Given the description of an element on the screen output the (x, y) to click on. 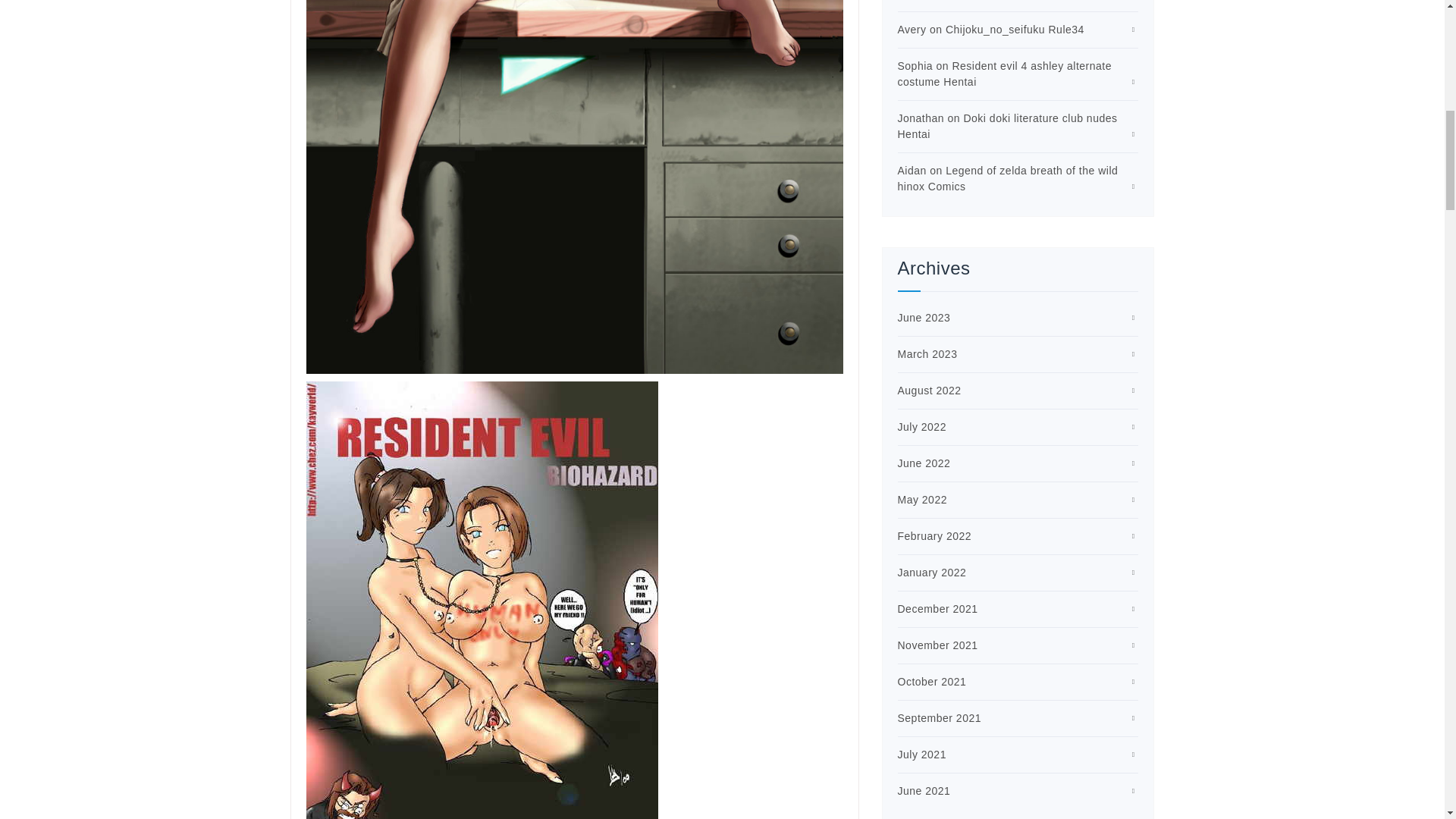
November 2021 (938, 645)
May 2022 (922, 499)
January 2022 (932, 572)
December 2021 (938, 608)
Resident evil 4 ashley alternate costume Hentai (1005, 73)
Legend of zelda breath of the wild hinox Comics (1008, 178)
August 2022 (929, 390)
March 2023 (928, 354)
June 2022 (924, 463)
October 2021 (932, 681)
June 2023 (924, 317)
February 2022 (935, 535)
Doki doki literature club nudes Hentai (1008, 126)
July 2022 (922, 426)
